Given the description of an element on the screen output the (x, y) to click on. 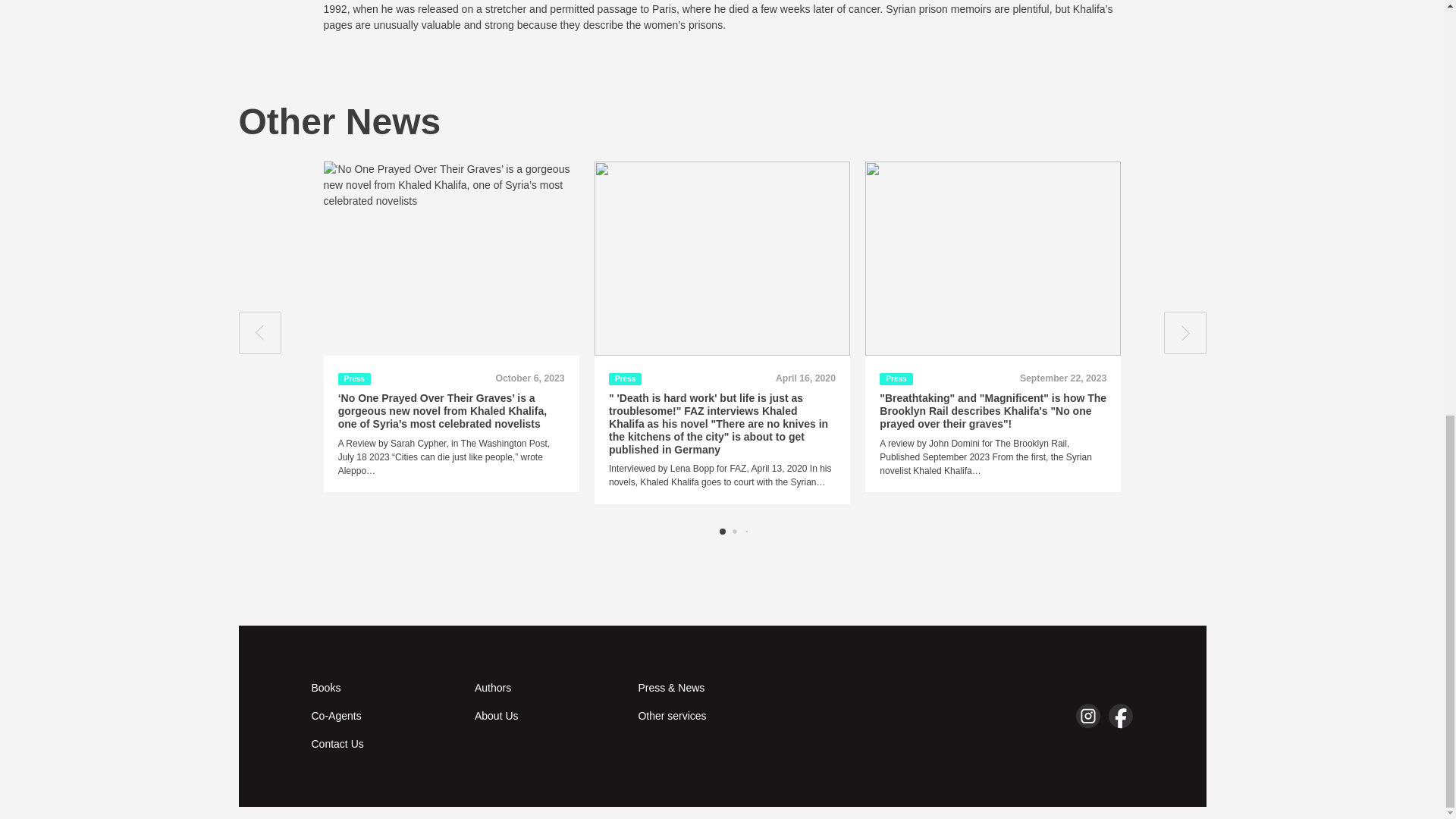
About Us (547, 715)
Contact Us (383, 744)
Authors (547, 688)
Co-Agents (383, 715)
Other services (710, 715)
Books (383, 688)
